Given the description of an element on the screen output the (x, y) to click on. 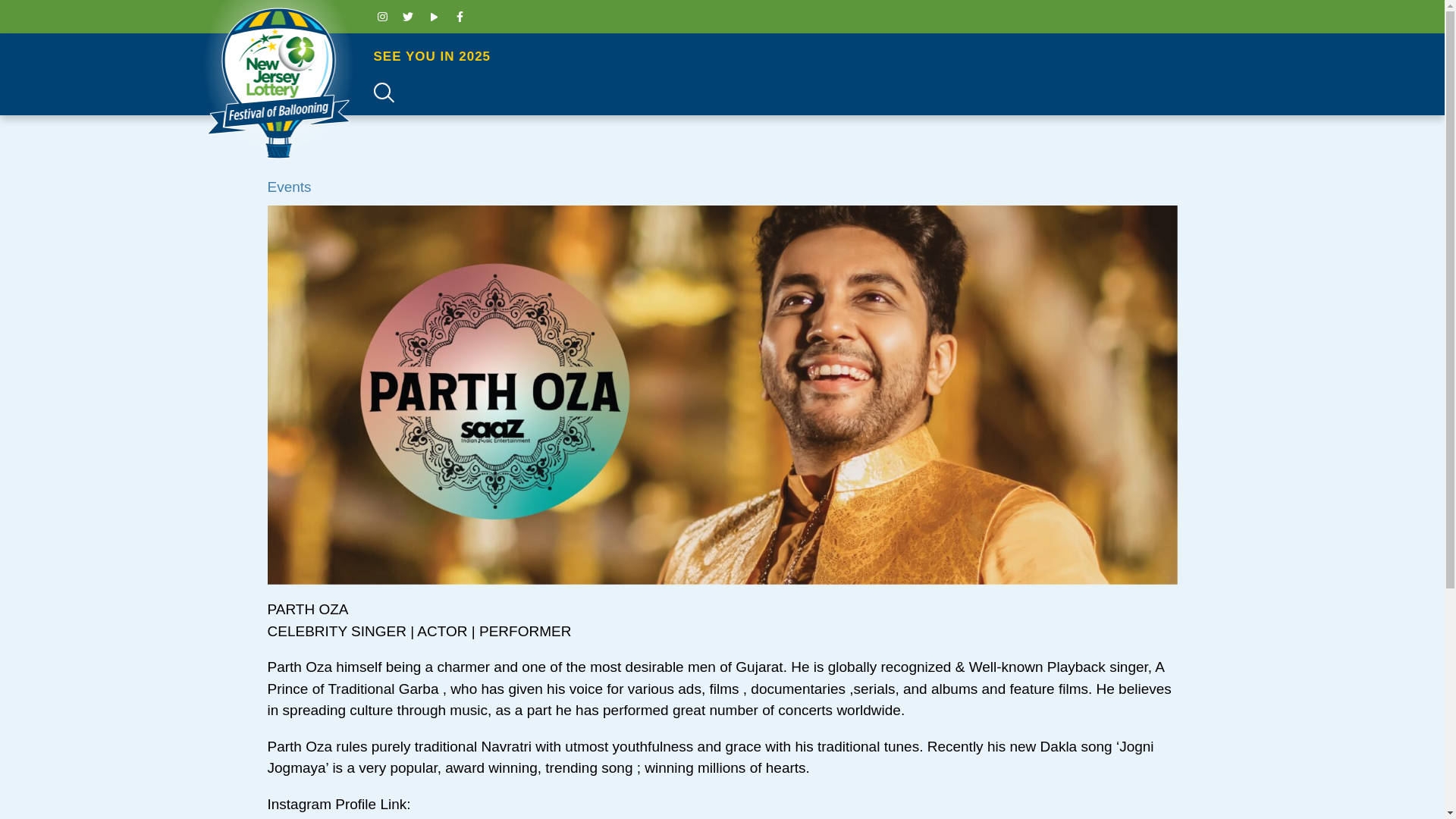
search (1376, 41)
Events (288, 186)
